Given the description of an element on the screen output the (x, y) to click on. 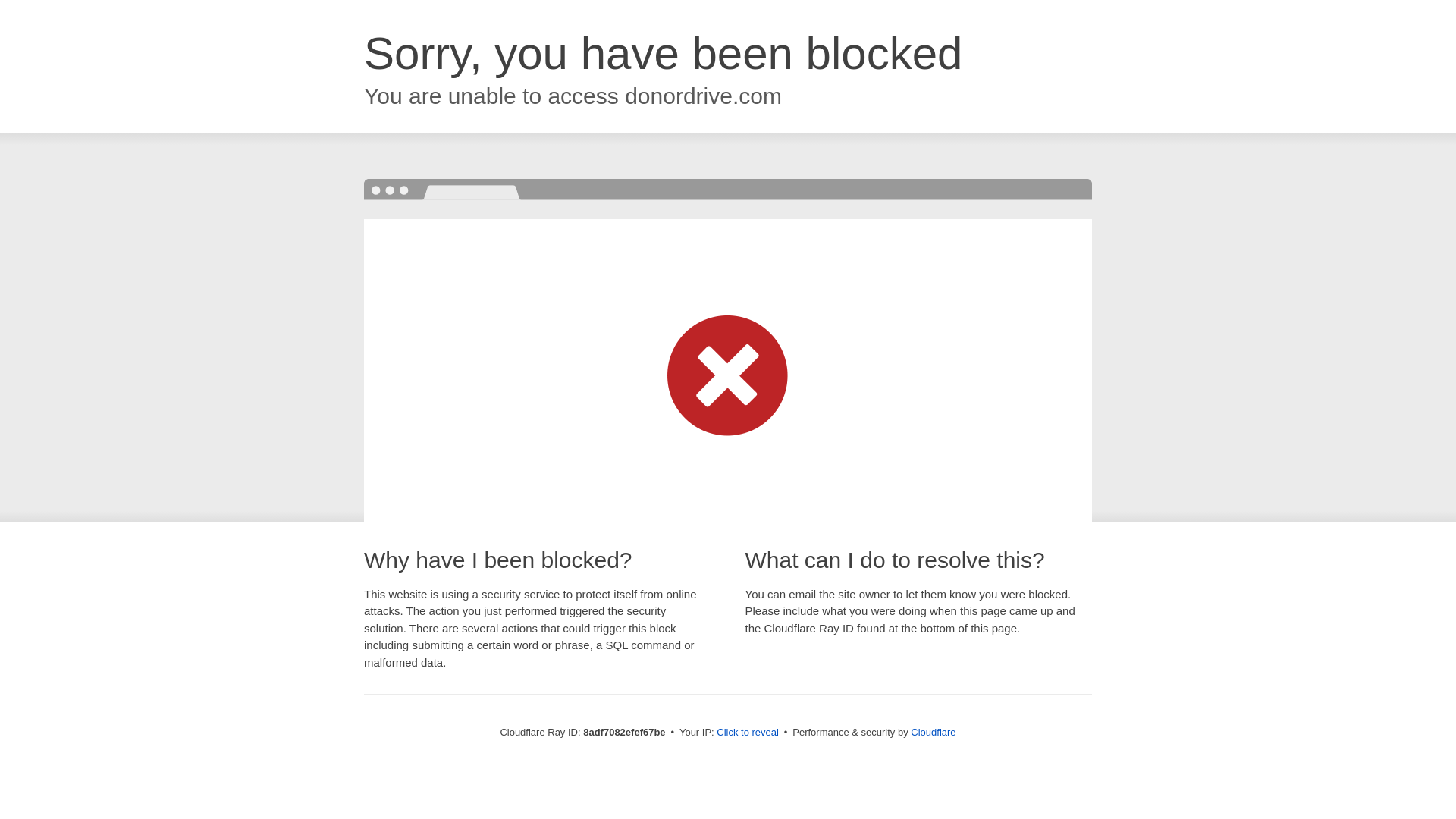
Click to reveal (747, 732)
Cloudflare (933, 731)
